Given the description of an element on the screen output the (x, y) to click on. 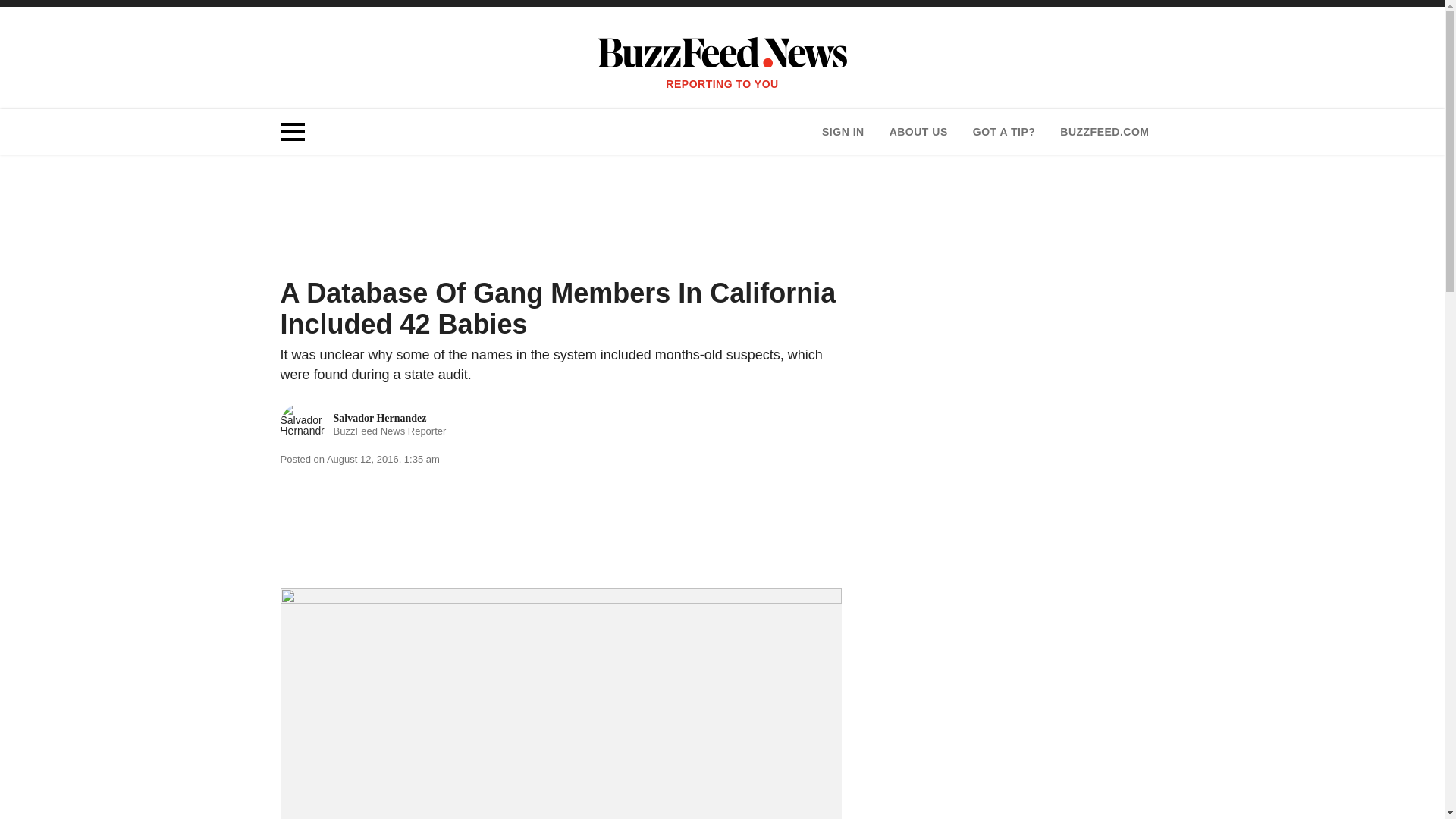
ABOUT US (917, 131)
SIGN IN (842, 131)
BUZZFEED.COM (363, 424)
GOT A TIP? (1103, 131)
